Given the description of an element on the screen output the (x, y) to click on. 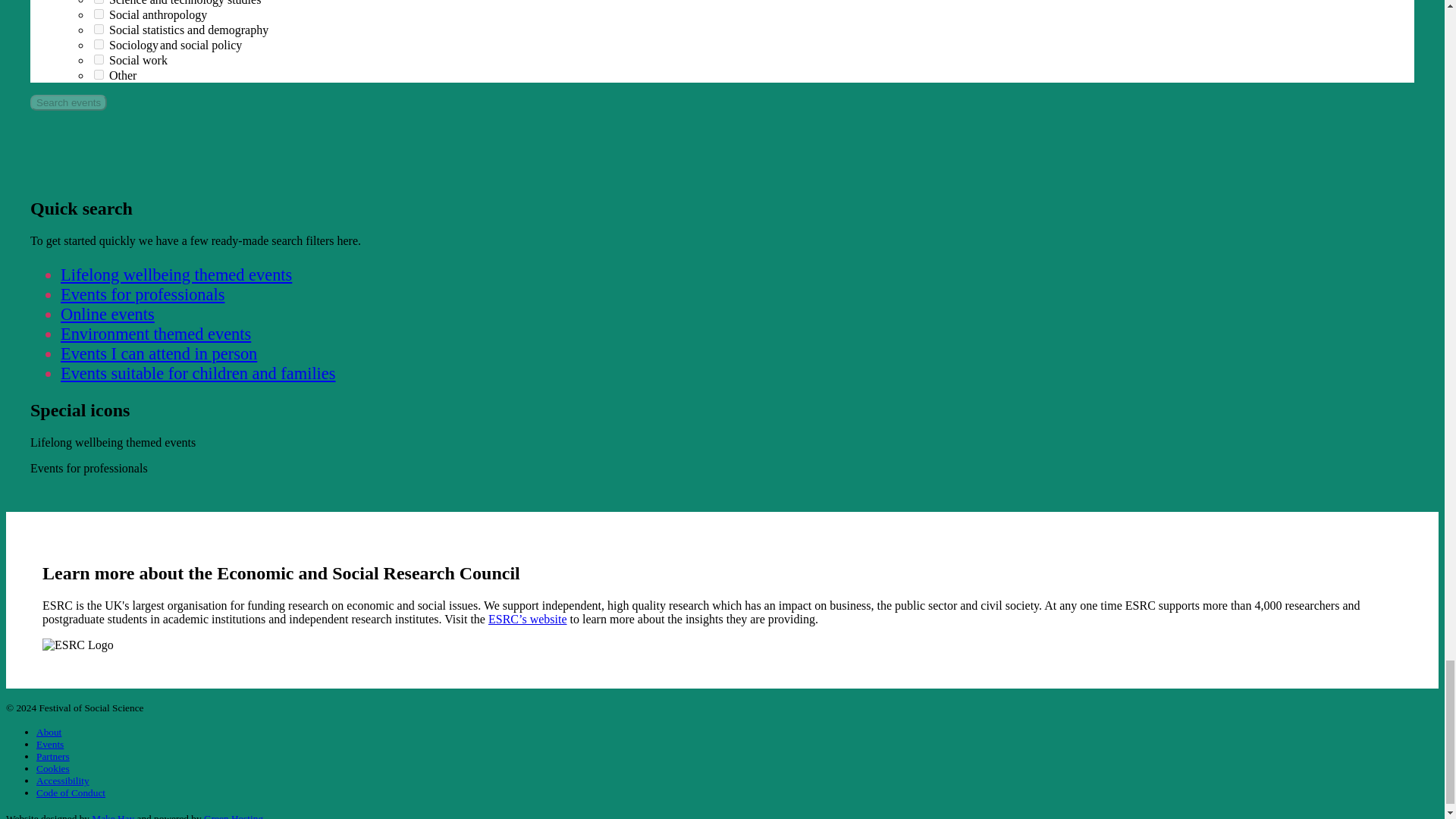
Environment themed events (155, 333)
Events I can attend in person (159, 353)
Online events (107, 313)
Events for professionals (142, 294)
Search events (68, 102)
Lifelong wellbeing themed events (176, 274)
